Given the description of an element on the screen output the (x, y) to click on. 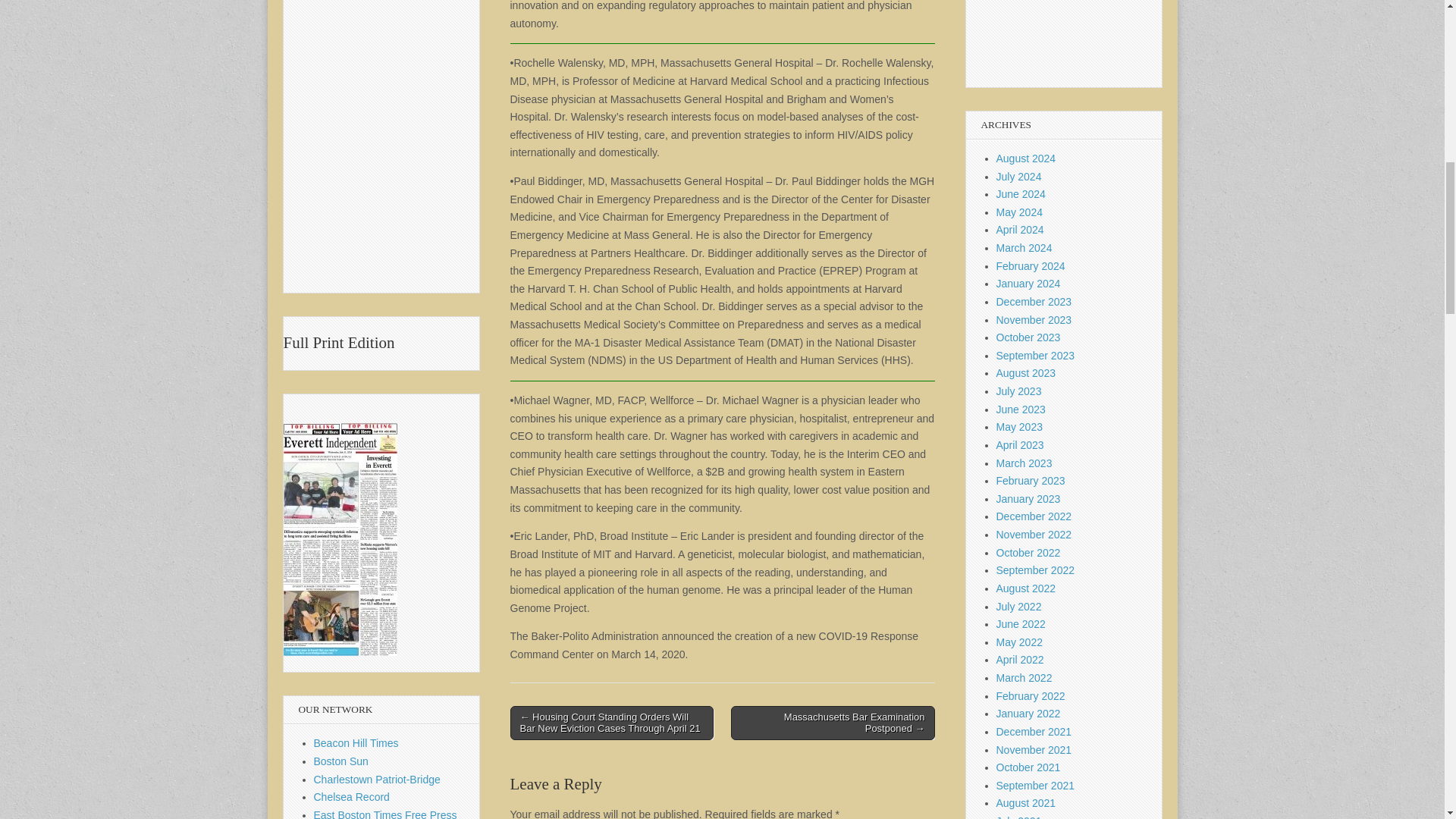
East Boston Times Free Press (385, 814)
Beacon Hill Times (356, 743)
Chelsea Record (352, 797)
Boston Sun (341, 761)
Charlestown Patriot-Bridge (377, 779)
